Given the description of an element on the screen output the (x, y) to click on. 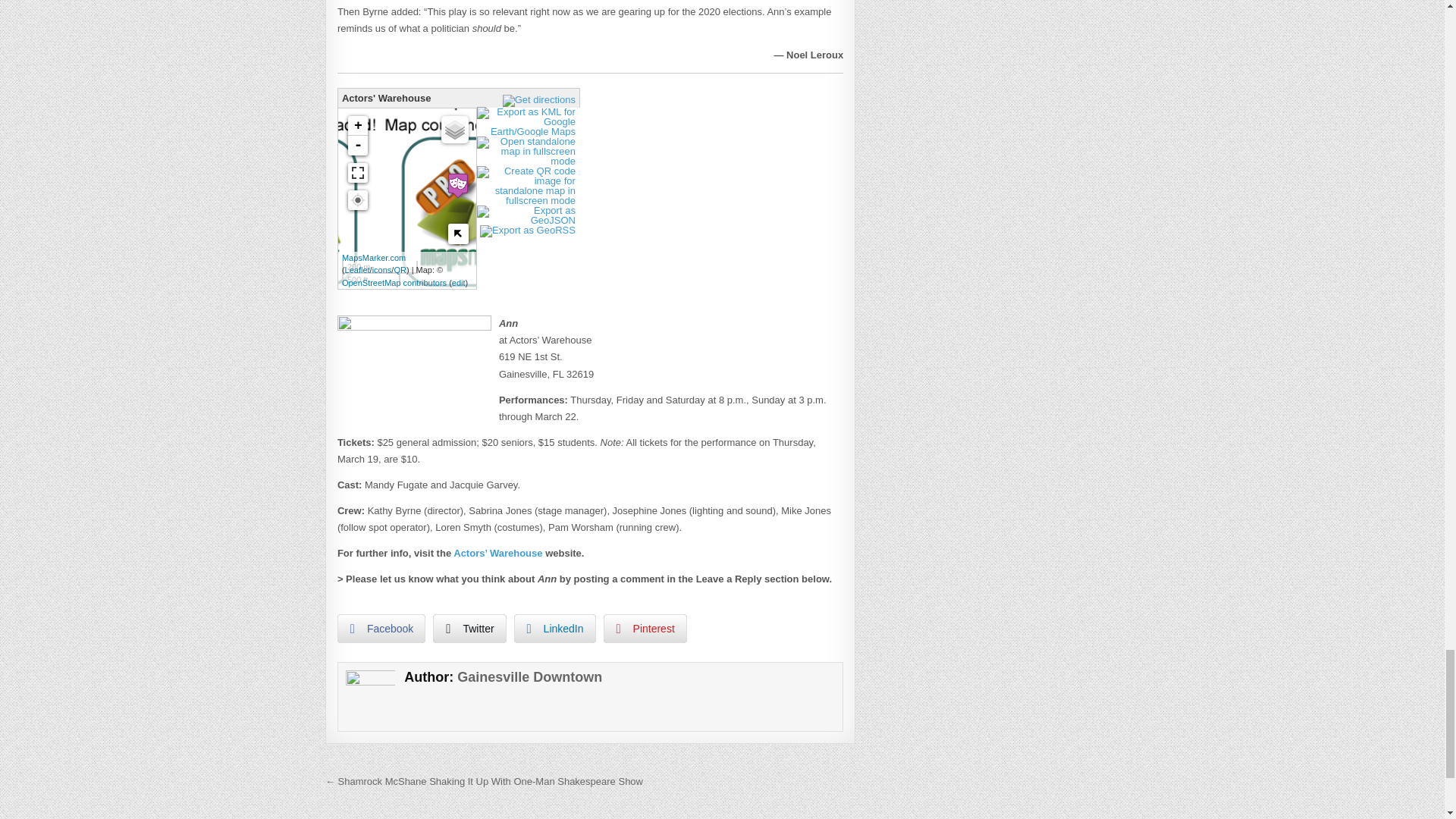
Layers (454, 129)
Show me where I am (357, 199)
Zoom in (357, 125)
OpenStreetMap contributors (394, 282)
MapsMarker.com (374, 257)
Zoom out (357, 145)
Open standalone map in fullscreen mode (528, 161)
View fullscreen (357, 172)
icons (381, 269)
Export as GeoRSS (529, 229)
- (357, 145)
QR (399, 269)
Create QR code image for standalone map in fullscreen mode (528, 200)
Leaflet (357, 269)
Get directions (540, 99)
